Given the description of an element on the screen output the (x, y) to click on. 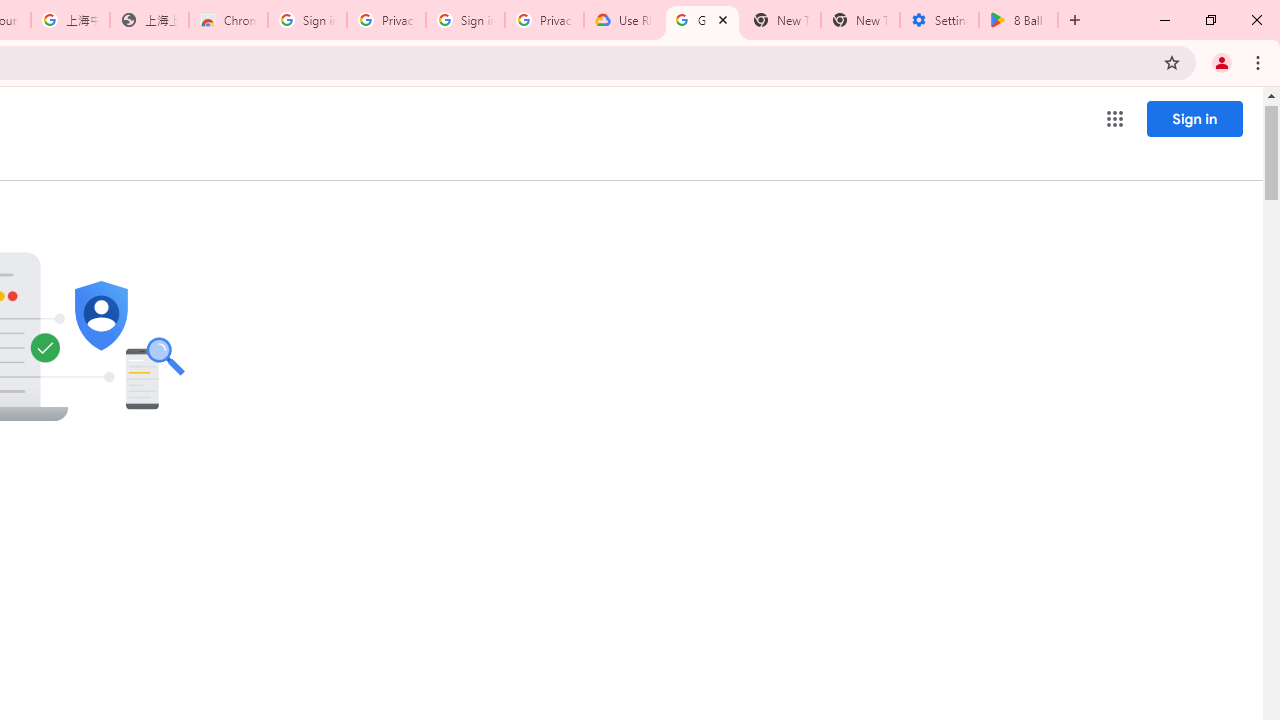
Sign in - Google Accounts (465, 20)
Sign in - Google Accounts (306, 20)
8 Ball Pool - Apps on Google Play (1018, 20)
Chrome Web Store - Color themes by Chrome (228, 20)
